Given the description of an element on the screen output the (x, y) to click on. 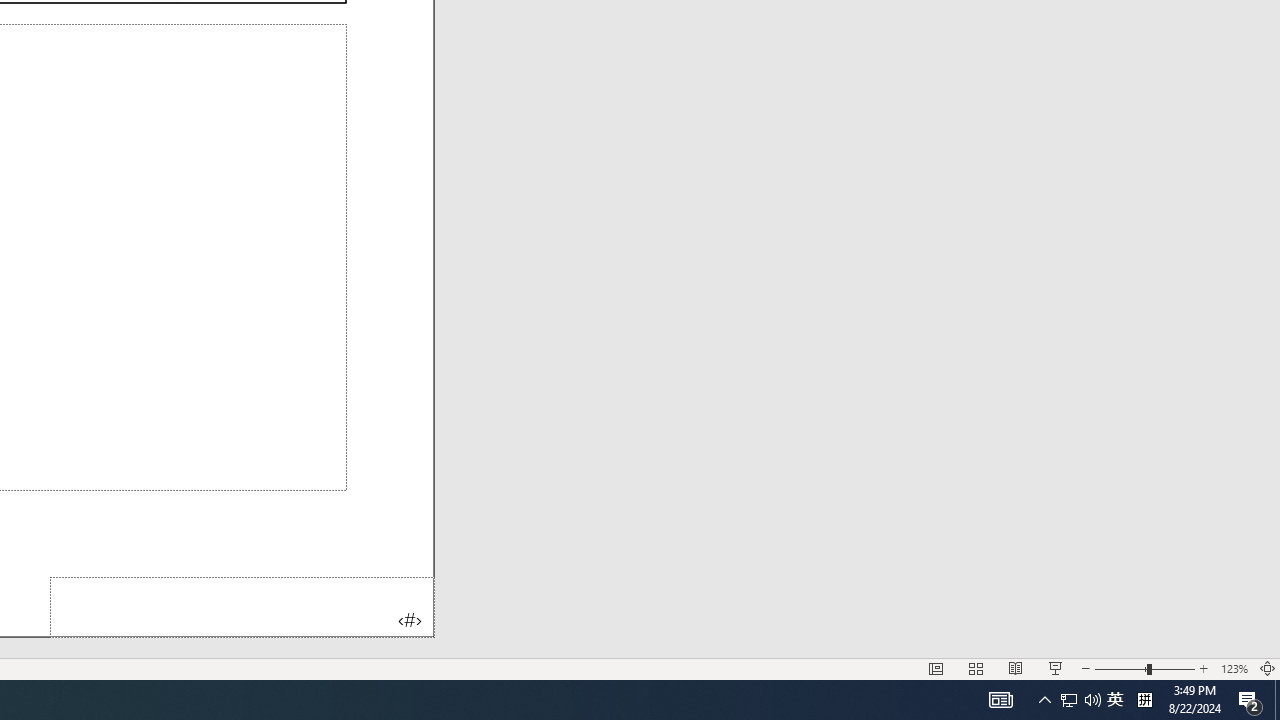
Zoom 123% (1234, 668)
